Given the description of an element on the screen output the (x, y) to click on. 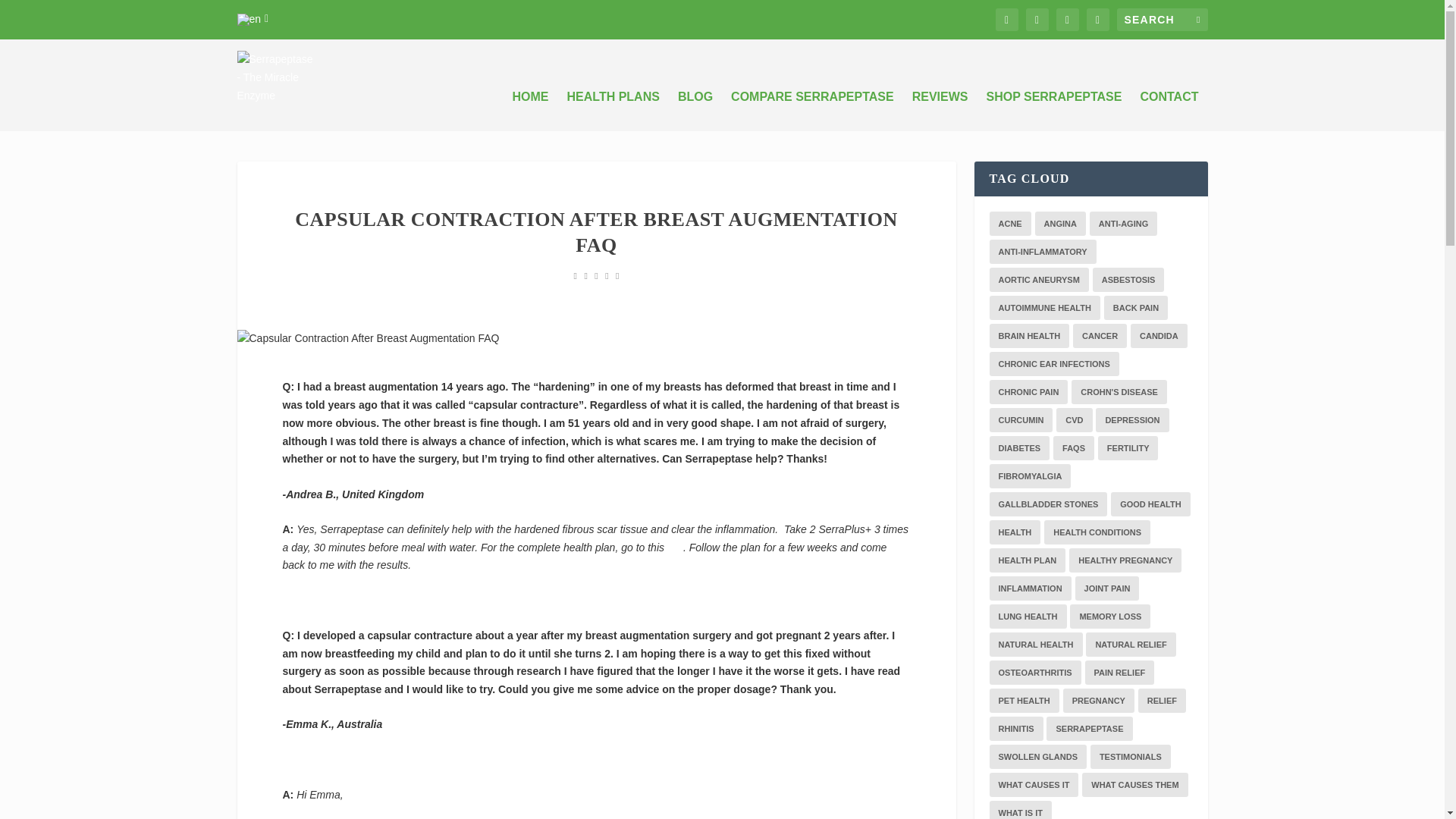
Compare Serrapeptase (811, 116)
Serrapeptase Health Plans (613, 116)
COMPARE SERRAPEPTASE (811, 116)
Shop Serrapeptase (1053, 116)
REVIEWS (940, 116)
SHOP SERRAPEPTASE (1053, 116)
Serrapeptase Reviews (940, 116)
HEALTH PLANS (613, 116)
link (674, 547)
Search for: (1161, 19)
CONTACT (1169, 116)
